Given the description of an element on the screen output the (x, y) to click on. 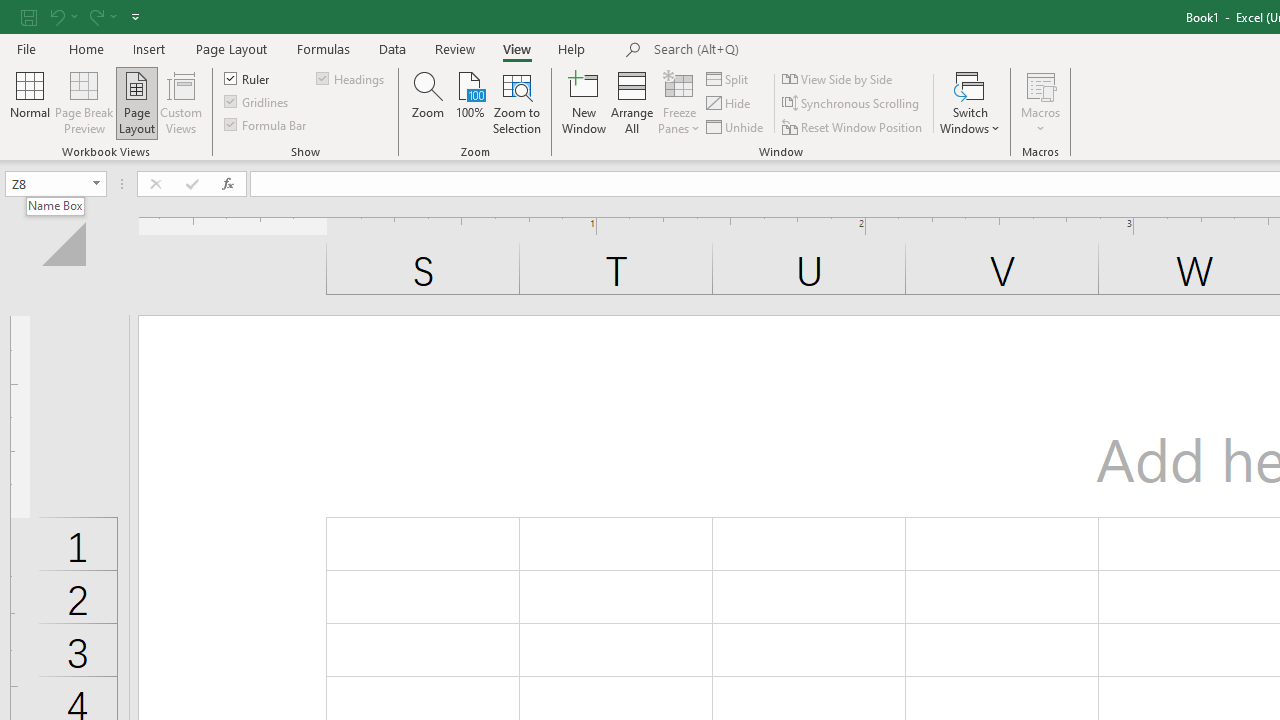
Macros (1040, 102)
View Macros (1040, 84)
Ruler (248, 78)
New Window (584, 102)
Custom Views... (180, 102)
Hide (729, 103)
Synchronous Scrolling (852, 103)
